Given the description of an element on the screen output the (x, y) to click on. 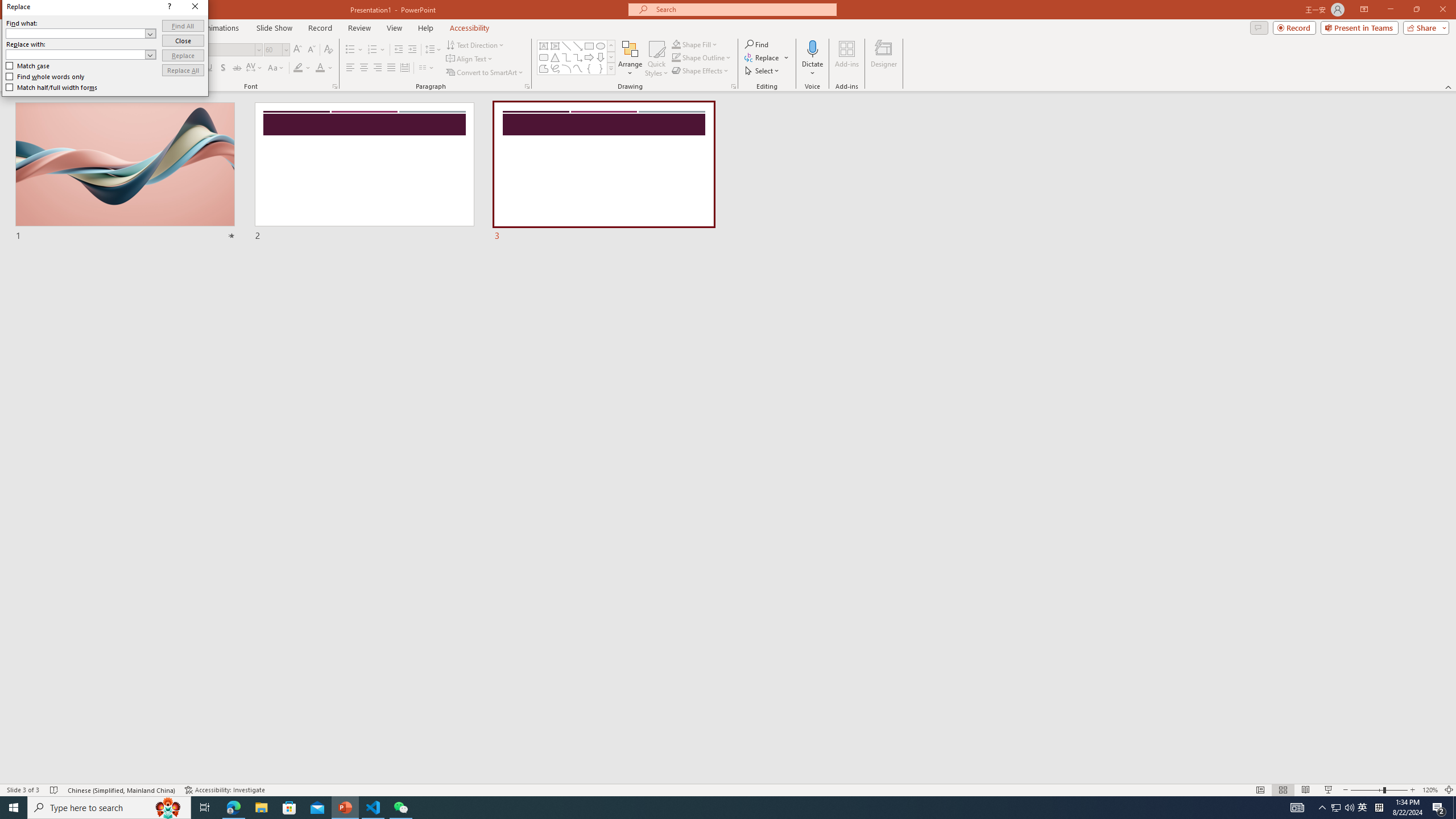
Connector: Elbow Arrow (577, 57)
Font... (334, 85)
Microsoft Store (289, 807)
Oval (600, 45)
Search highlights icon opens search home window (167, 807)
Q2790: 100% (1362, 807)
Clear Formatting (1349, 807)
Connector: Elbow (327, 49)
AutomationID: ShapesInsertGallery (566, 57)
Character Spacing (576, 57)
Find what (1335, 807)
